Given the description of an element on the screen output the (x, y) to click on. 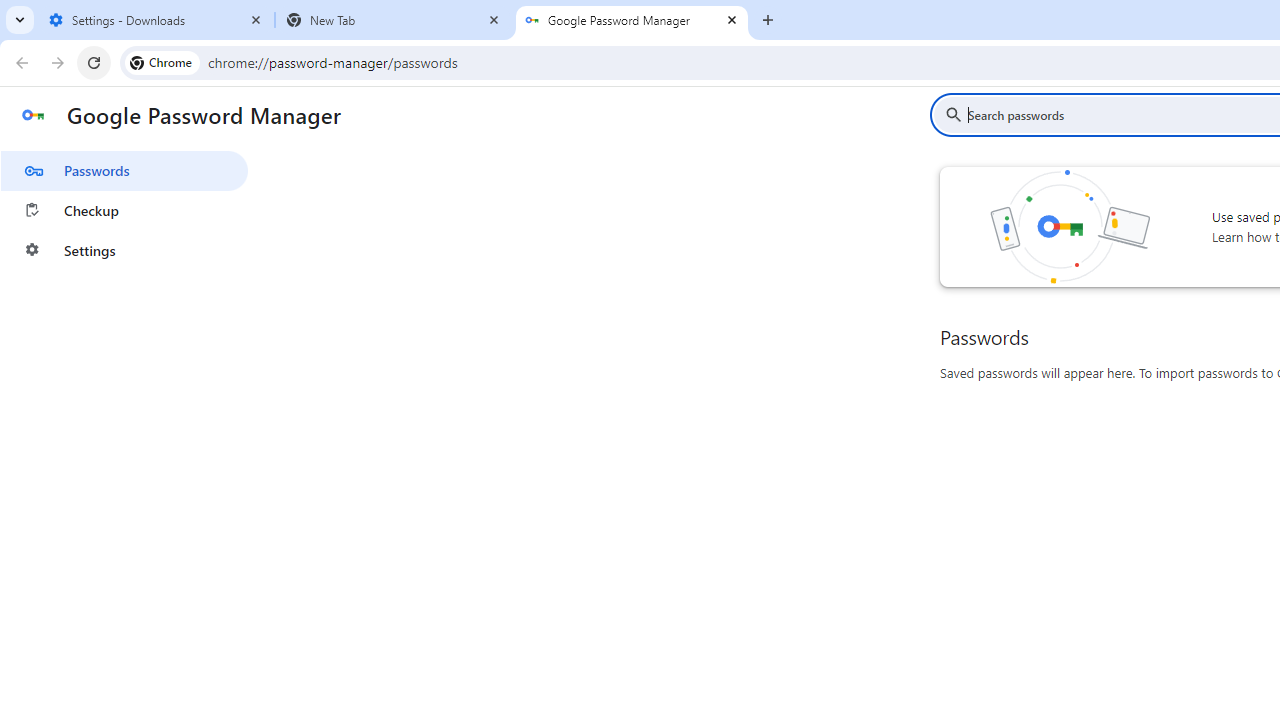
New Tab (394, 20)
Checkup (124, 210)
Settings - Downloads (156, 20)
Passwords (124, 170)
Google Password Manager (632, 20)
AutomationID: menu (124, 206)
